Given the description of an element on the screen output the (x, y) to click on. 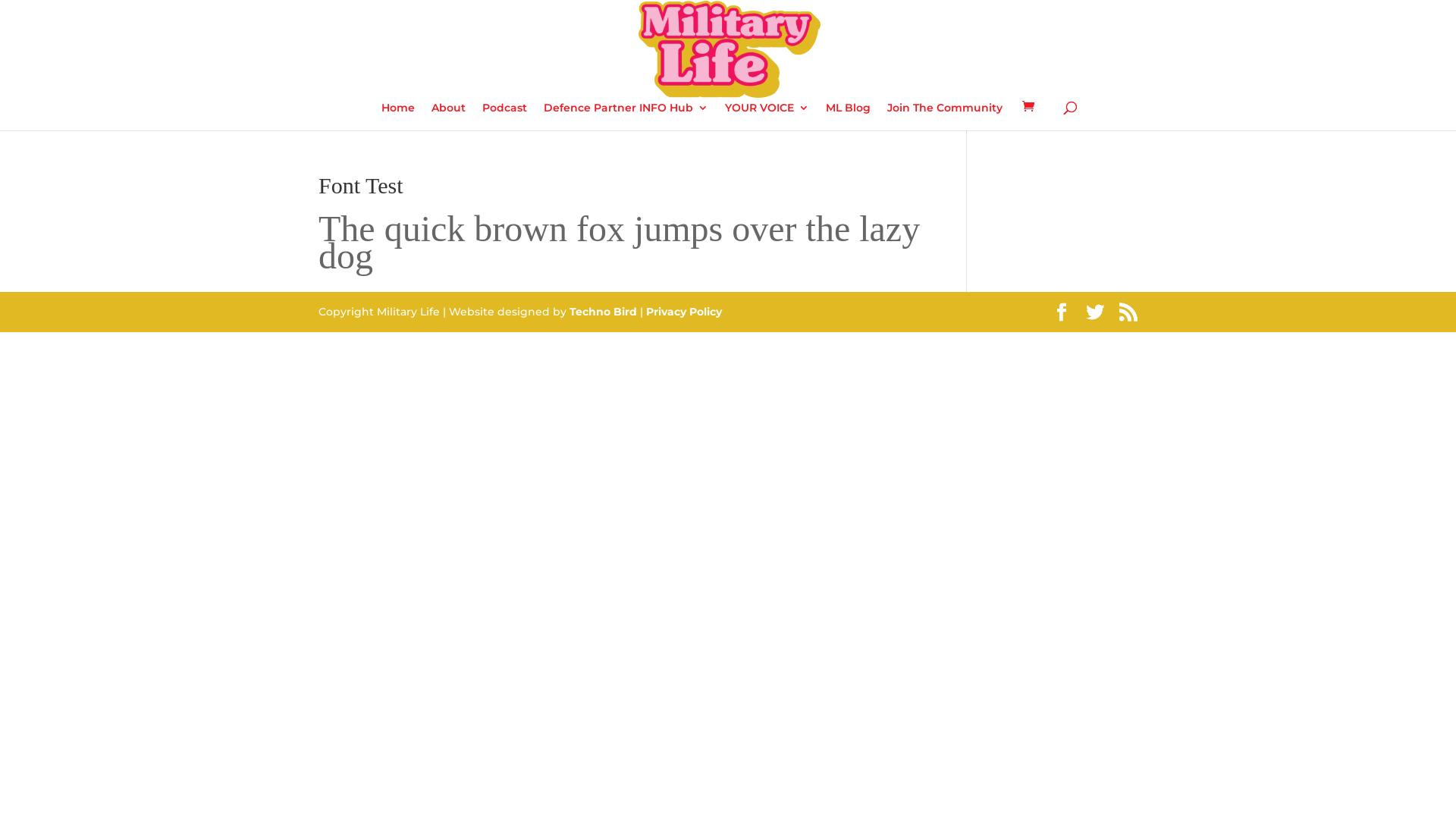
Home Element type: text (397, 116)
ML Blog Element type: text (847, 116)
About Element type: text (447, 116)
Techno Bird Element type: text (604, 311)
YOUR VOICE Element type: text (766, 116)
Privacy Policy Element type: text (683, 311)
Join The Community Element type: text (944, 116)
Podcast Element type: text (504, 116)
Defence Partner INFO Hub Element type: text (624, 116)
